Given the description of an element on the screen output the (x, y) to click on. 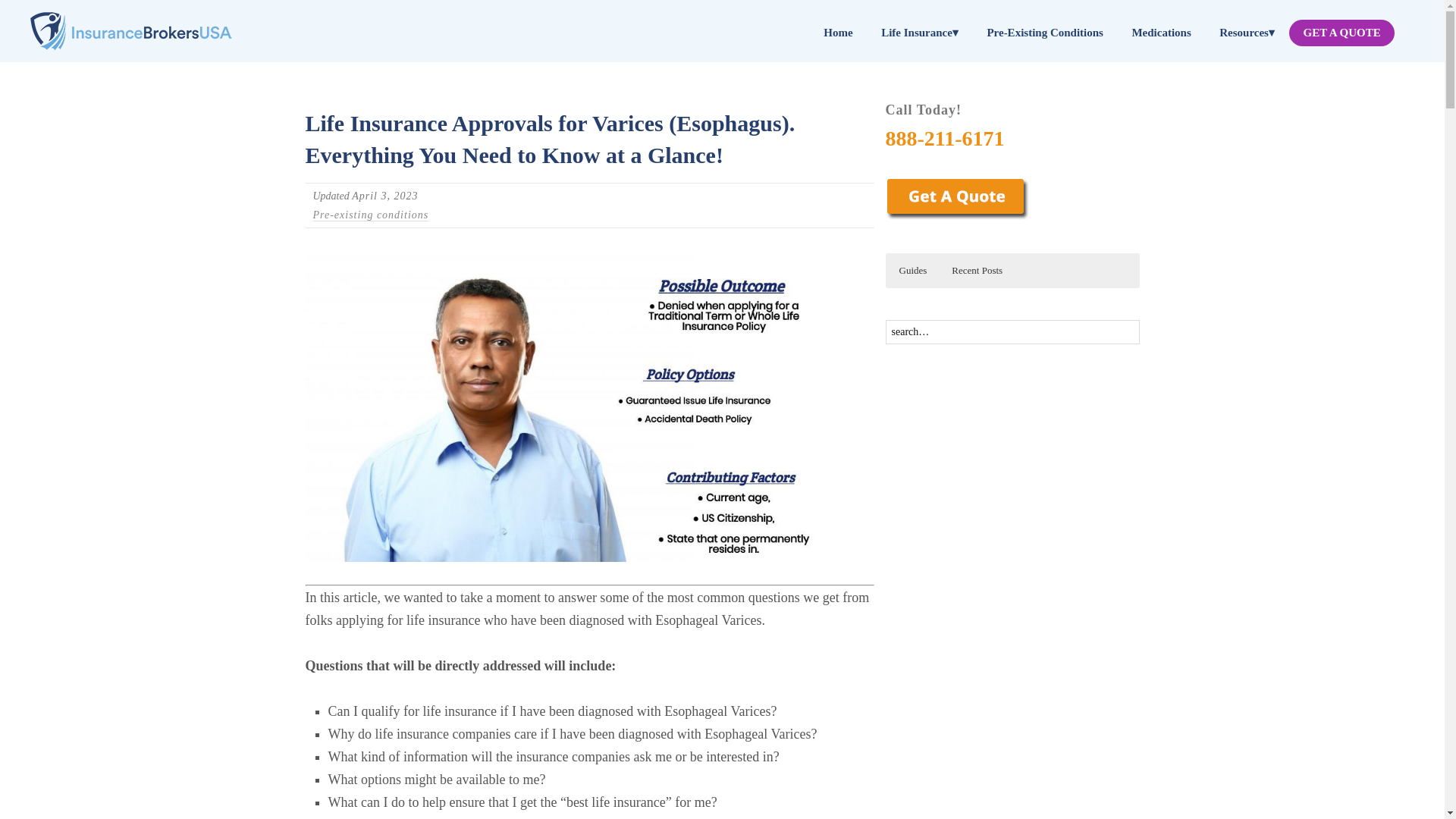
2023-04-03 (384, 195)
Medications (1161, 32)
Home (838, 32)
Pre-Existing Conditions (1045, 32)
